Given the description of an element on the screen output the (x, y) to click on. 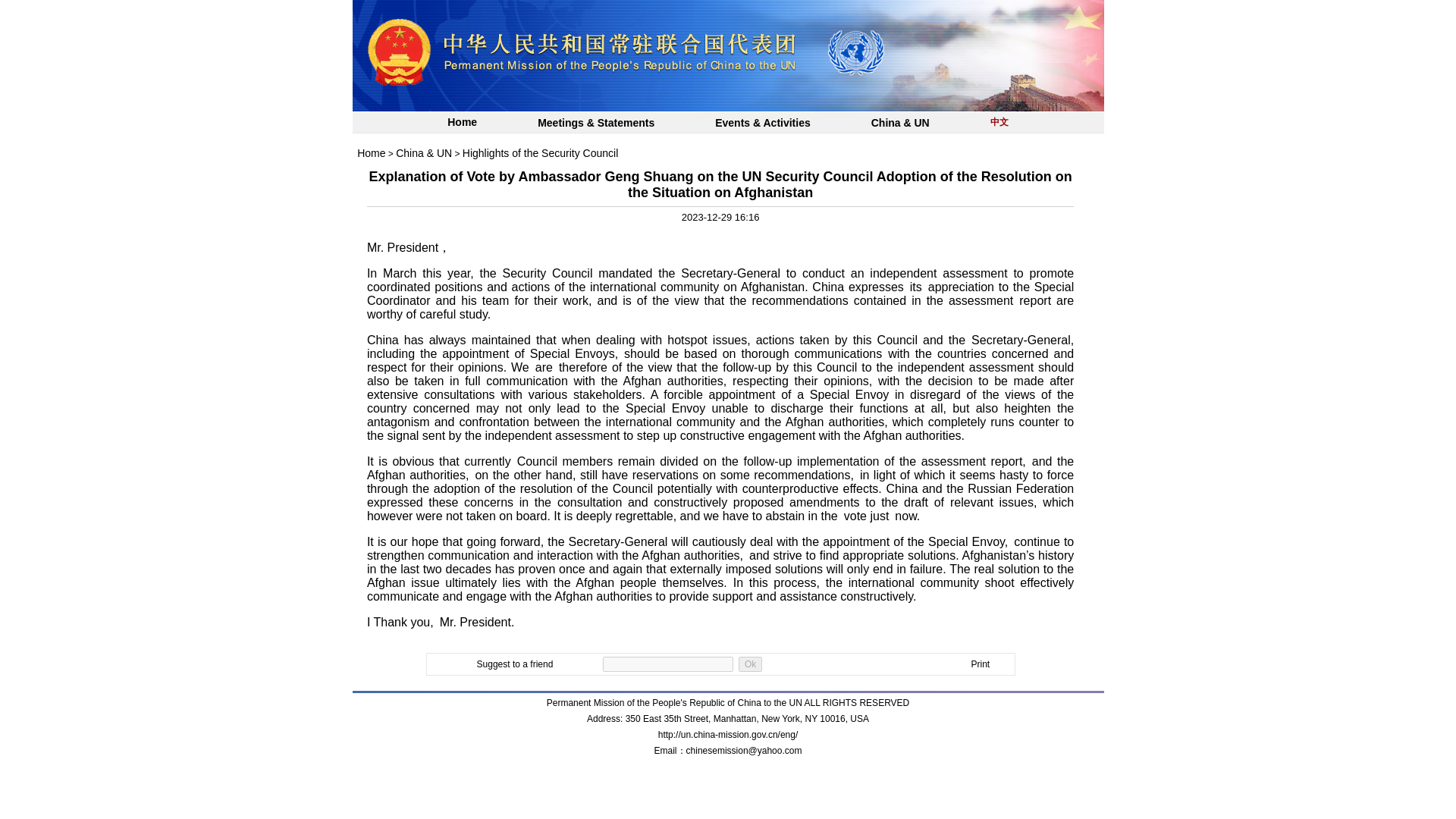
Highlights of the Security Council (540, 152)
Home (370, 152)
Home (370, 152)
Home (461, 122)
Ok (749, 663)
Highlights of the Security Council (540, 152)
Print (980, 664)
